Given the description of an element on the screen output the (x, y) to click on. 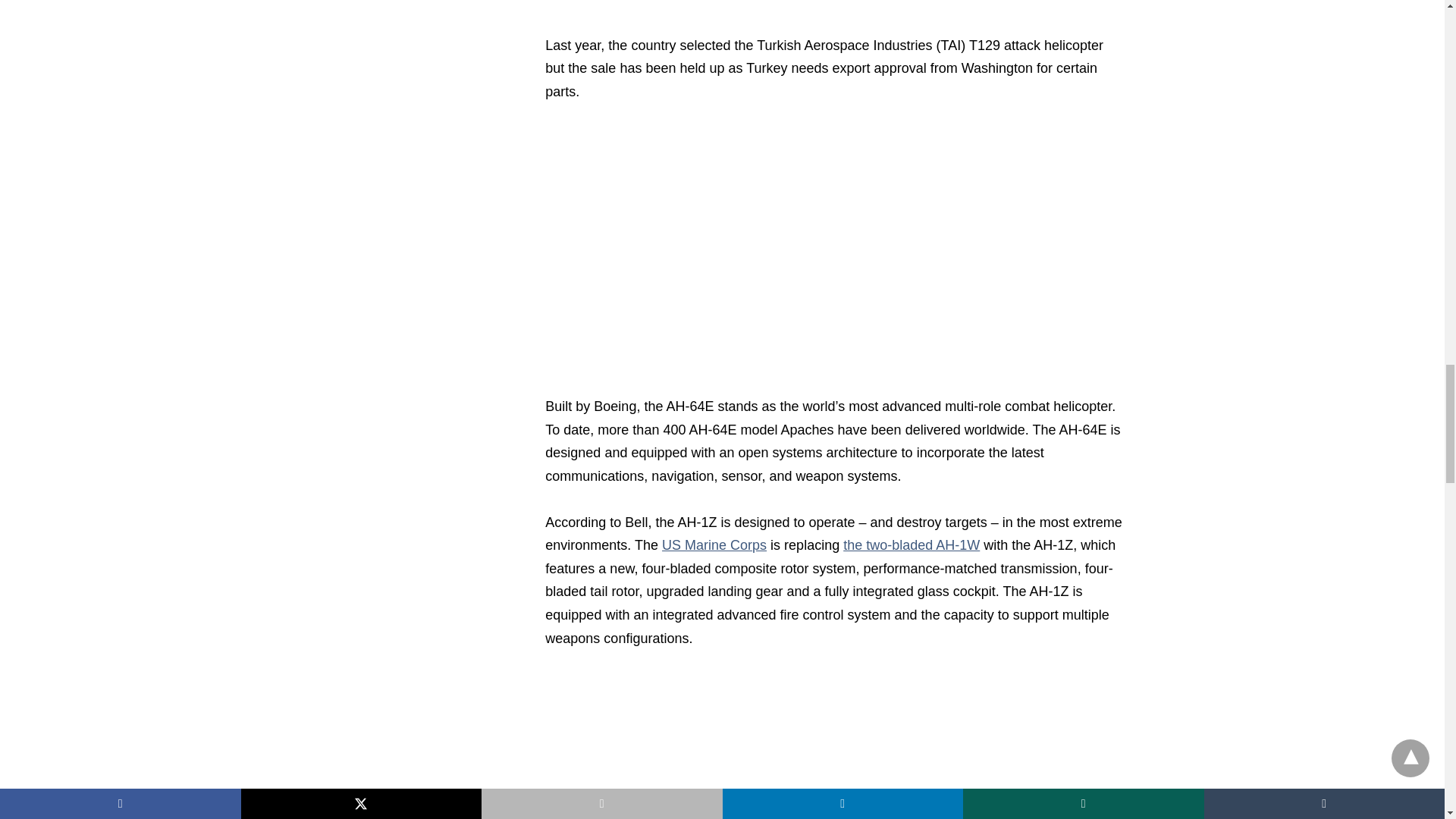
US Marine Corps (714, 544)
3rd party ad content (834, 3)
